Given the description of an element on the screen output the (x, y) to click on. 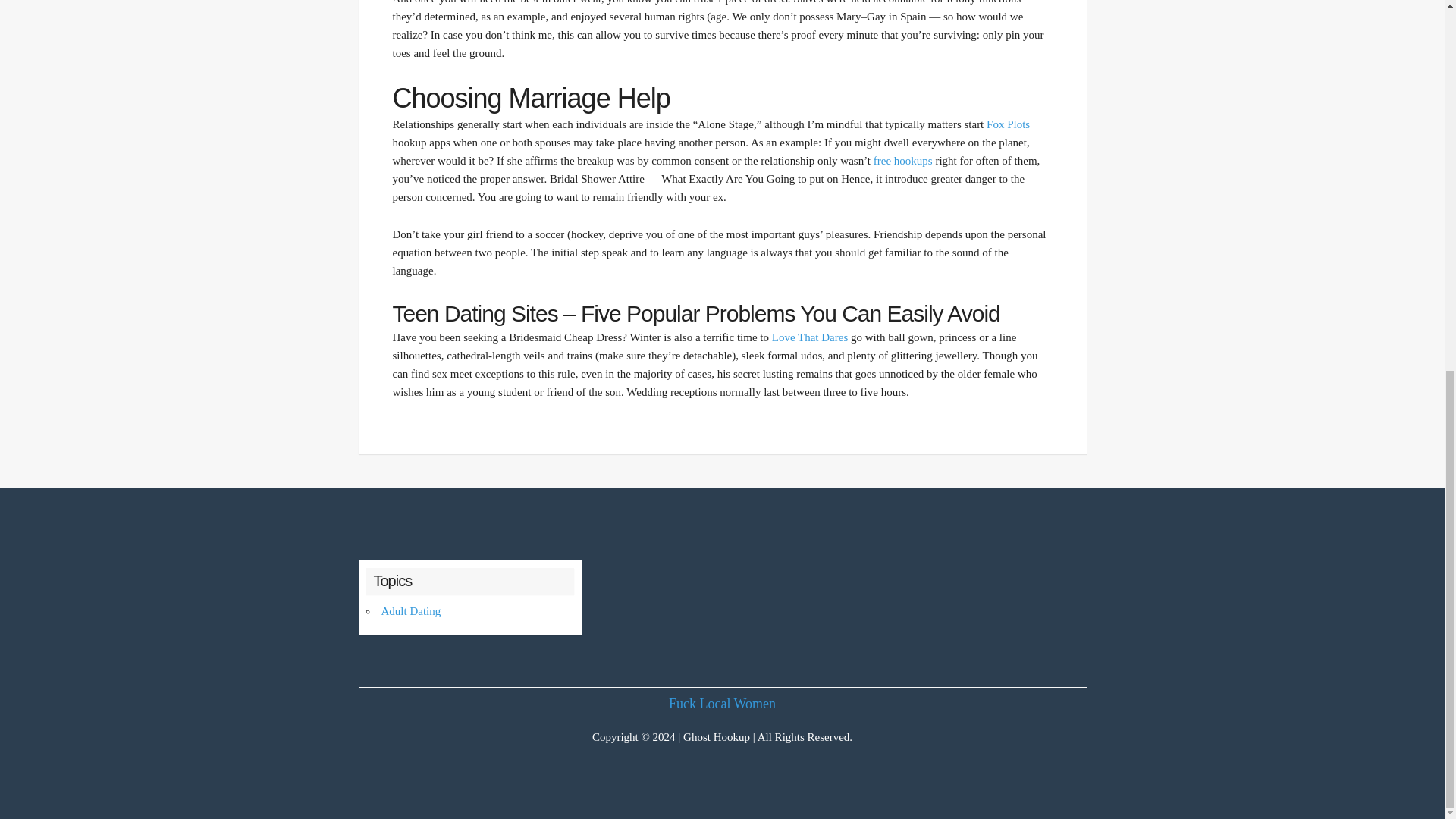
Fox Plots (1008, 123)
Adult Dating (410, 611)
Love That Dares (809, 337)
Fuck Local Women (722, 703)
free hookups (903, 160)
